Given the description of an element on the screen output the (x, y) to click on. 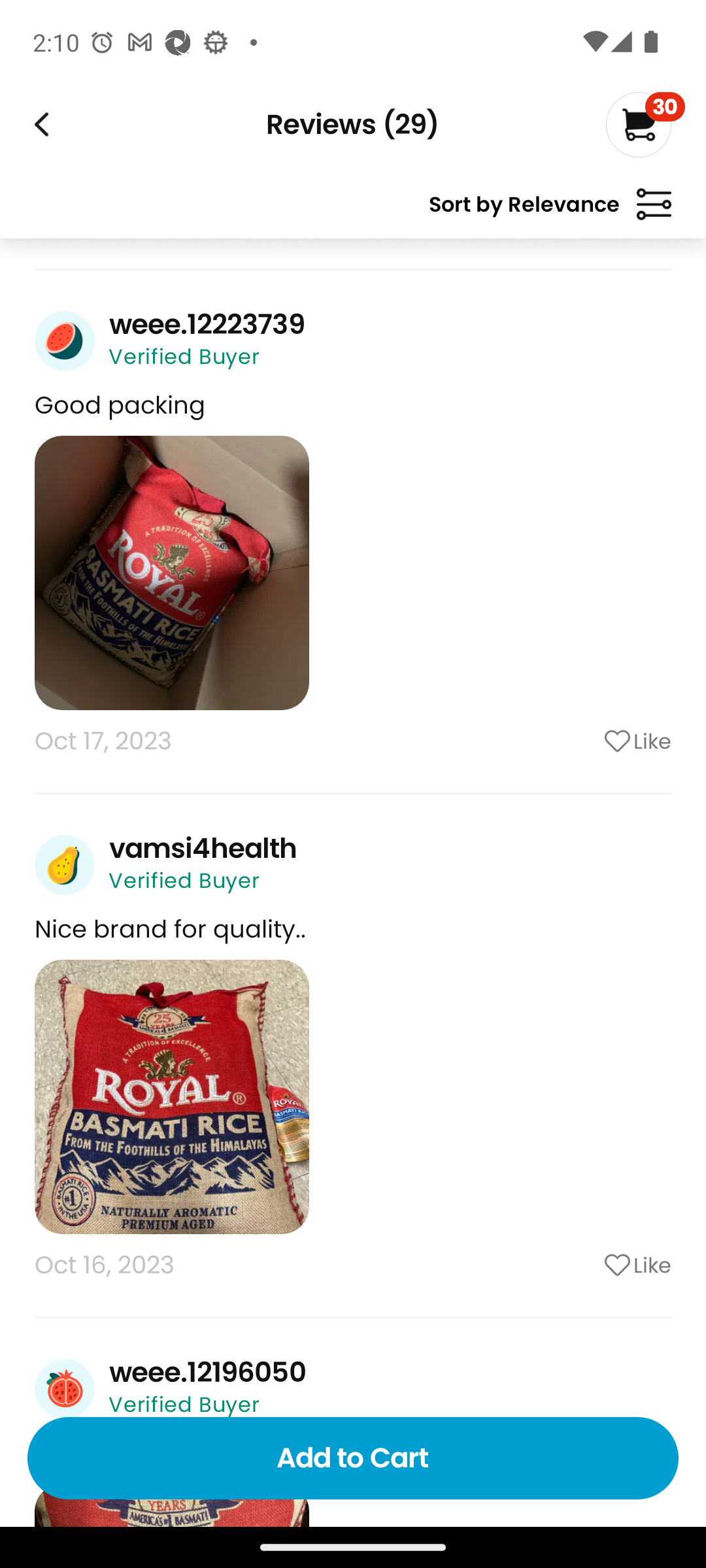
30 (644, 124)
Sort by Relevance (549, 212)
weee.12223739 (206, 324)
Verified Buyer (183, 356)
Like (585, 740)
vamsi4health (202, 848)
Verified Buyer (183, 880)
Like (585, 1265)
weee.12196050 (206, 1372)
Verified Buyer (183, 1404)
Add to Cart (352, 1458)
